Given the description of an element on the screen output the (x, y) to click on. 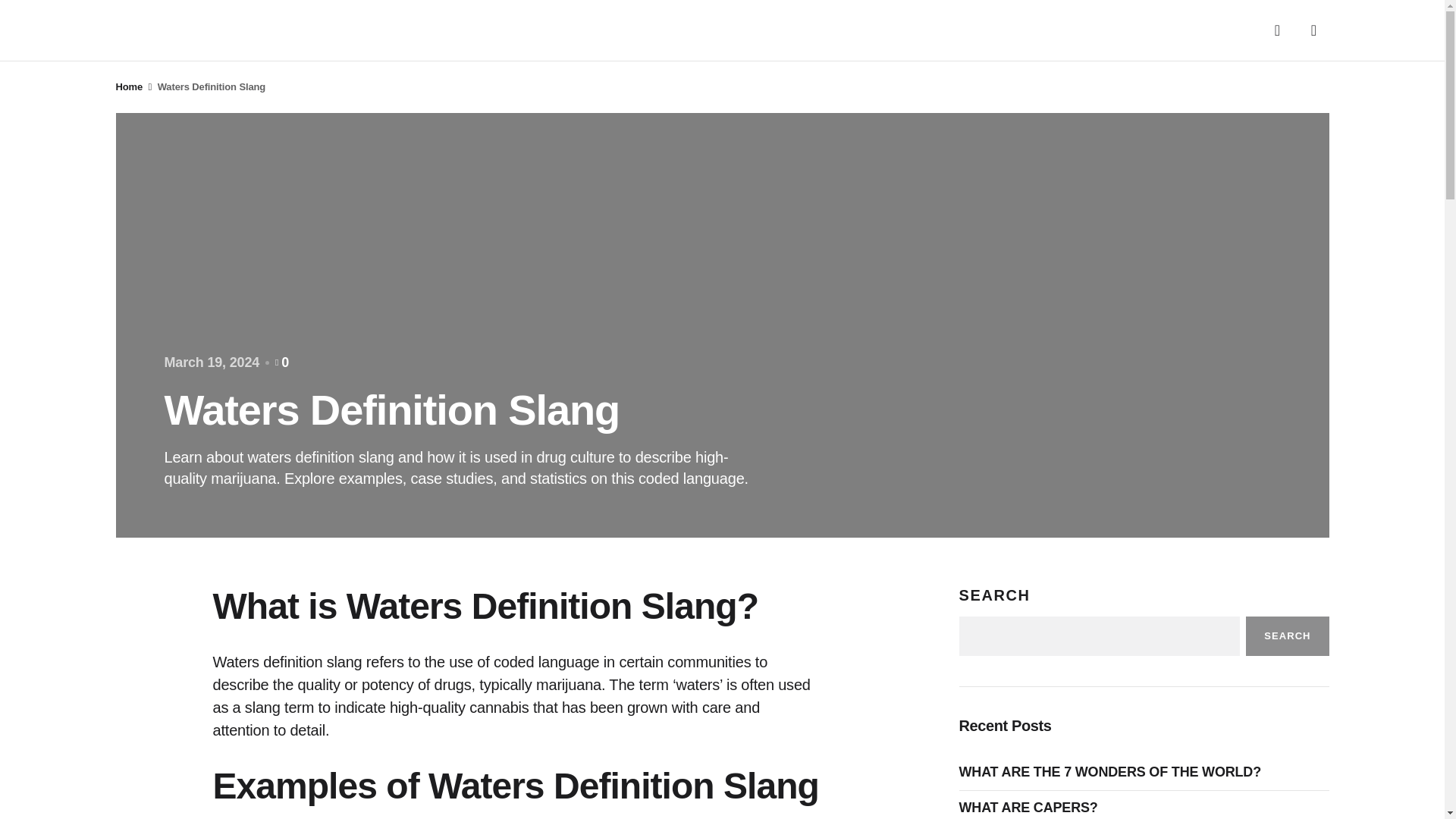
Home (128, 86)
SEARCH (1286, 636)
WHAT ARE CAPERS? (1031, 808)
WHAT ARE THE 7 WONDERS OF THE WORLD? (1113, 772)
